Given the description of an element on the screen output the (x, y) to click on. 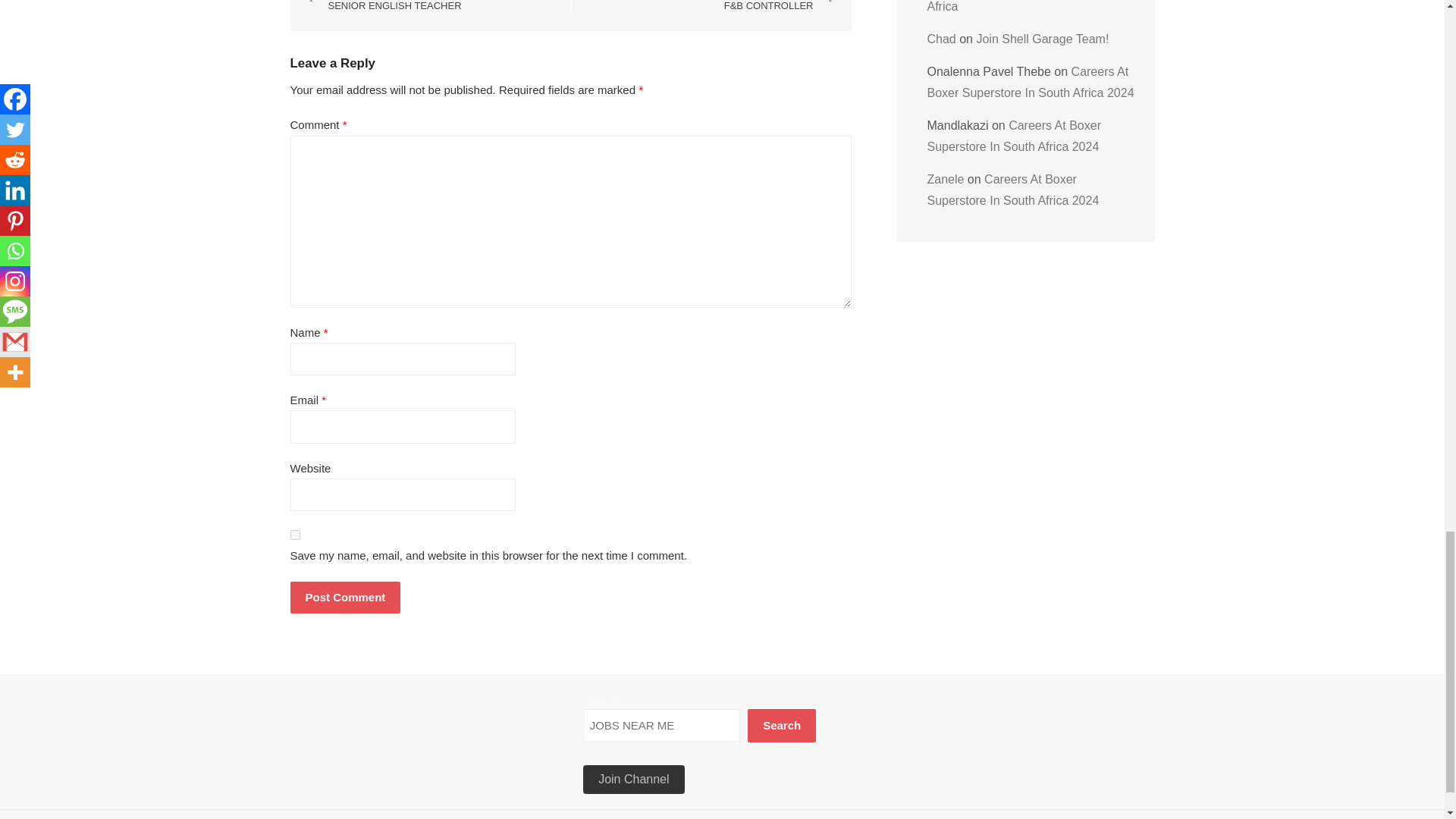
Post Comment (382, 7)
yes (344, 596)
